Given the description of an element on the screen output the (x, y) to click on. 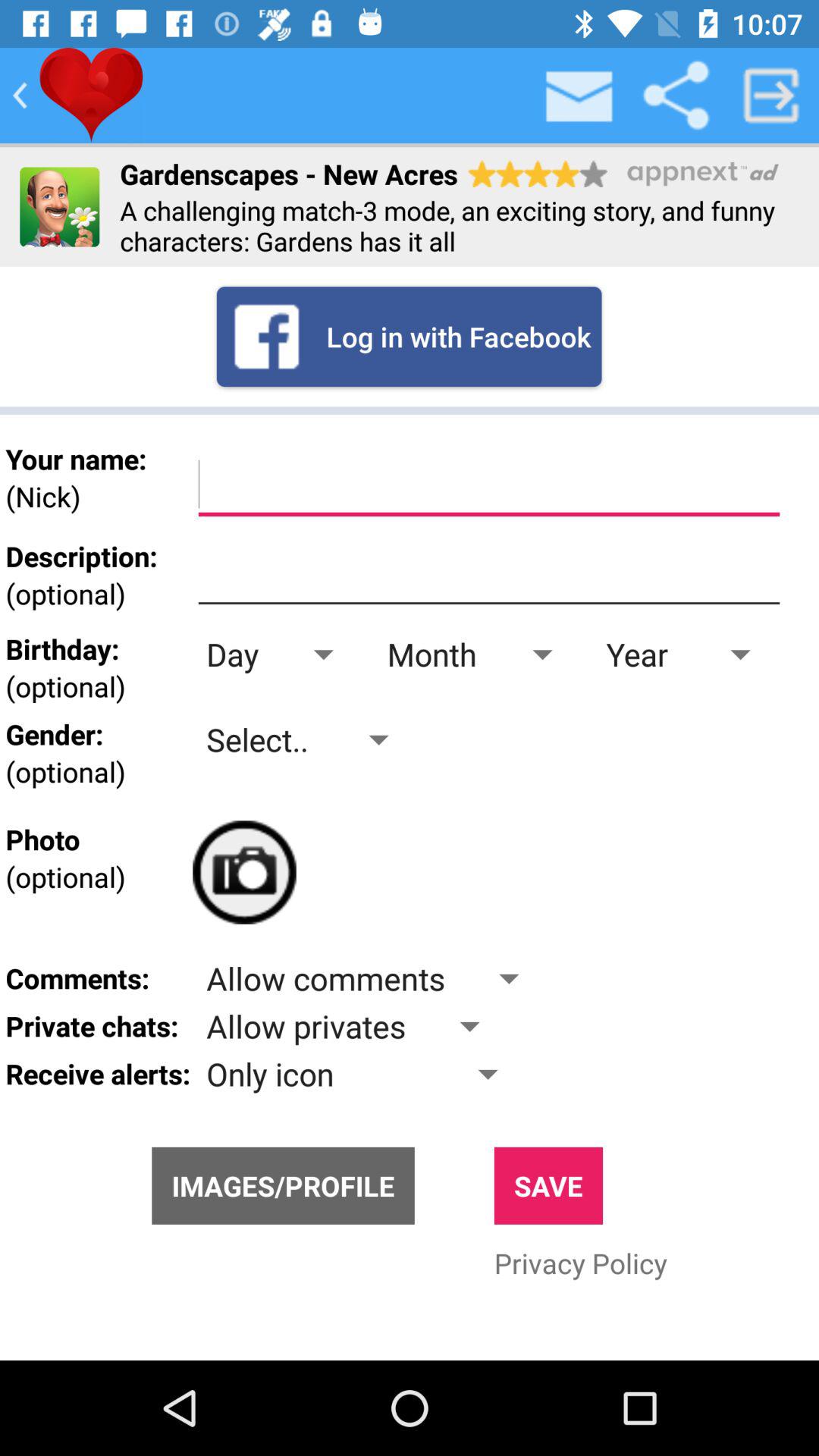
love this game (90, 95)
